Given the description of an element on the screen output the (x, y) to click on. 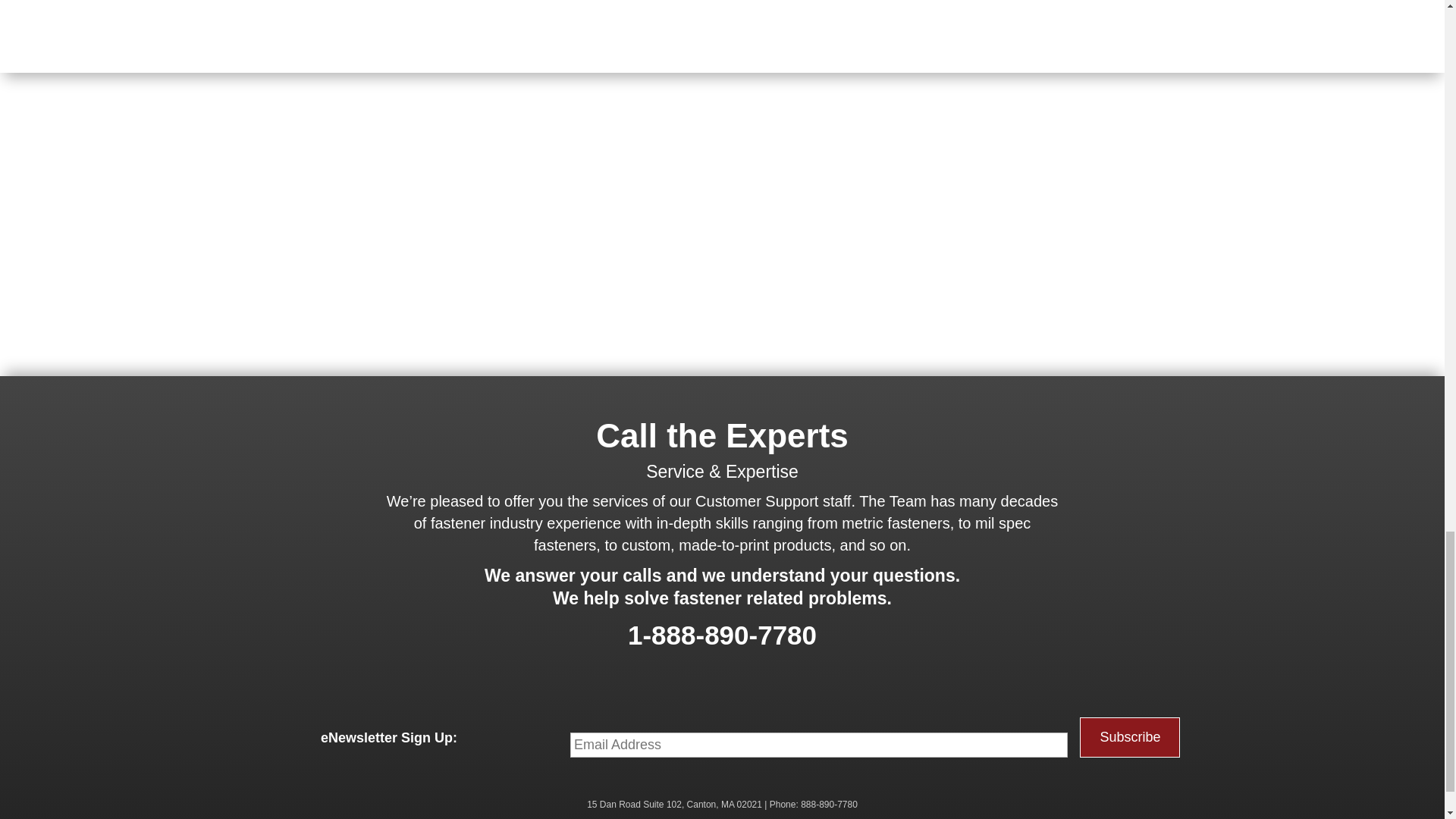
Subscribe (1129, 737)
